Given the description of an element on the screen output the (x, y) to click on. 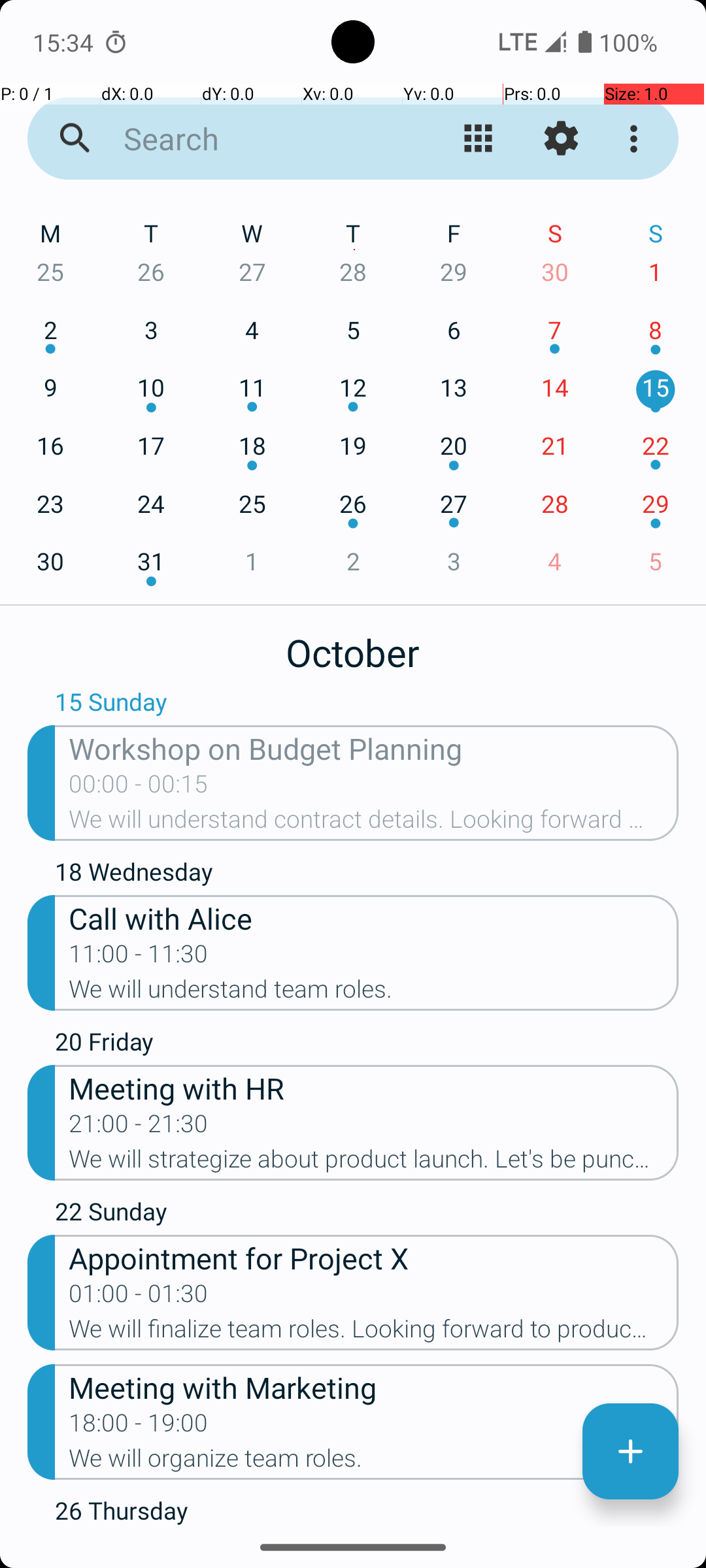
22 Sunday Element type: android.widget.TextView (366, 1214)
26 Thursday Element type: android.widget.TextView (366, 1509)
00:00 - 00:15 Element type: android.widget.TextView (137, 787)
We will understand contract details. Looking forward to productive discussions. Element type: android.widget.TextView (373, 822)
11:00 - 11:30 Element type: android.widget.TextView (137, 957)
We will understand team roles. Element type: android.widget.TextView (373, 992)
21:00 - 21:30 Element type: android.widget.TextView (137, 1127)
We will strategize about product launch. Let's be punctual. Element type: android.widget.TextView (373, 1162)
01:00 - 01:30 Element type: android.widget.TextView (137, 1297)
We will finalize team roles. Looking forward to productive discussions. Element type: android.widget.TextView (373, 1332)
18:00 - 19:00 Element type: android.widget.TextView (137, 1426)
We will organize team roles. Element type: android.widget.TextView (373, 1461)
